Given the description of an element on the screen output the (x, y) to click on. 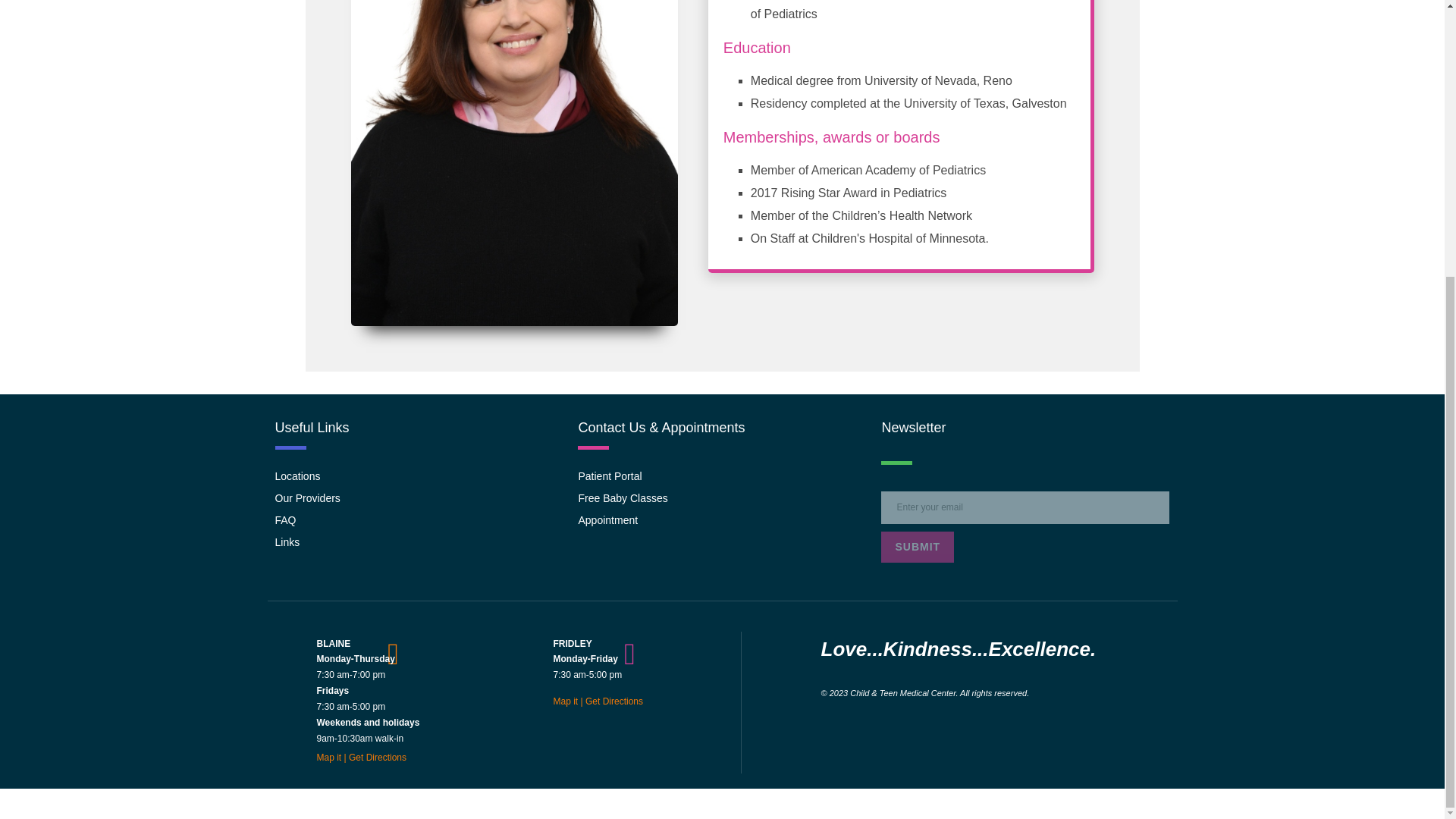
Links (418, 542)
Get Directions   (380, 757)
Free Baby Classes (722, 498)
SUBMIT (916, 546)
Locations (418, 476)
Map it (565, 701)
Our Providers (418, 498)
FAQ (418, 520)
Map it (329, 757)
Appointment (722, 520)
